Given the description of an element on the screen output the (x, y) to click on. 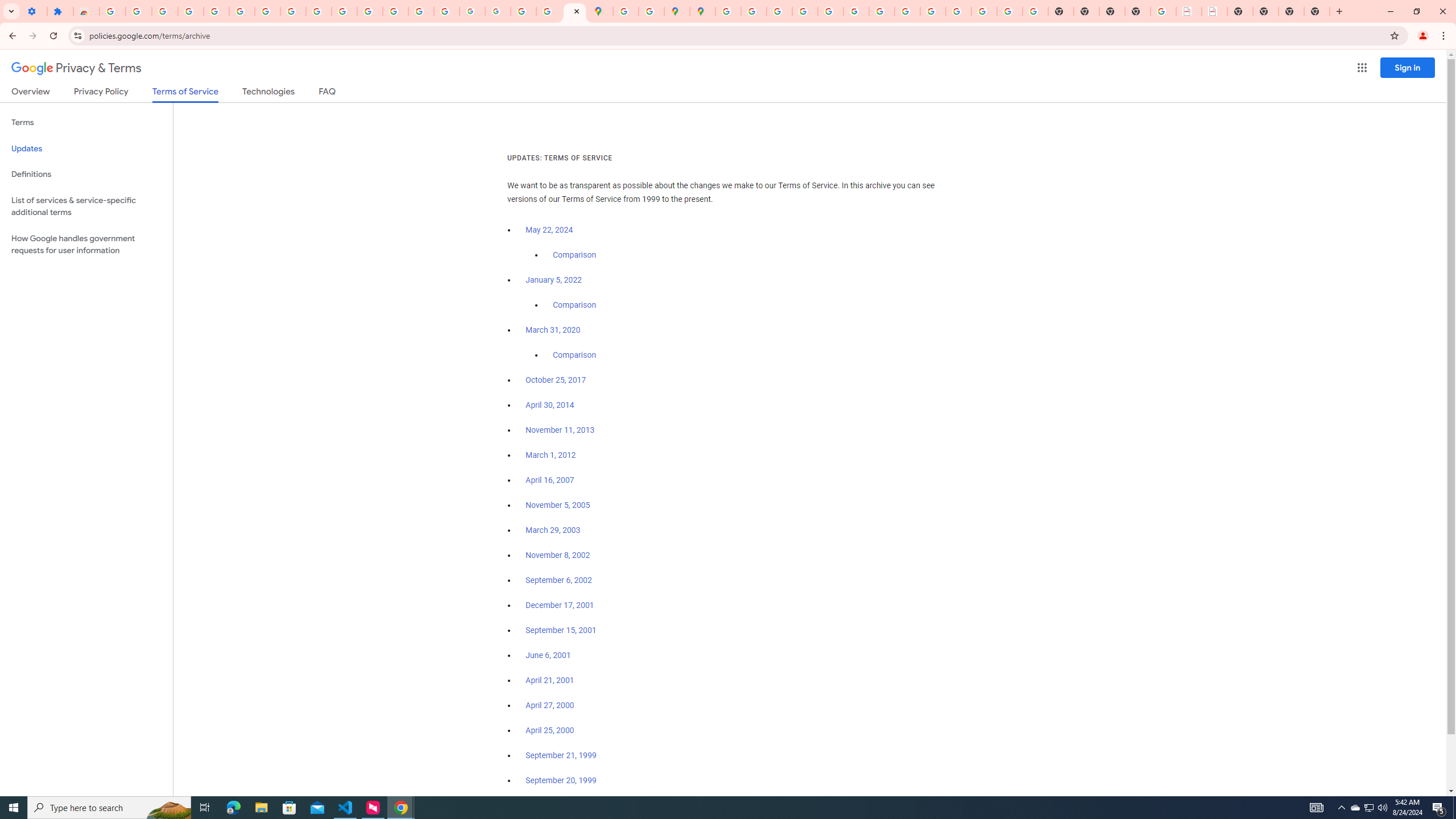
September 20, 1999 (560, 780)
November 8, 2002 (557, 555)
June 6, 2001 (547, 655)
Delete photos & videos - Computer - Google Photos Help (165, 11)
April 21, 2001 (550, 679)
